Given the description of an element on the screen output the (x, y) to click on. 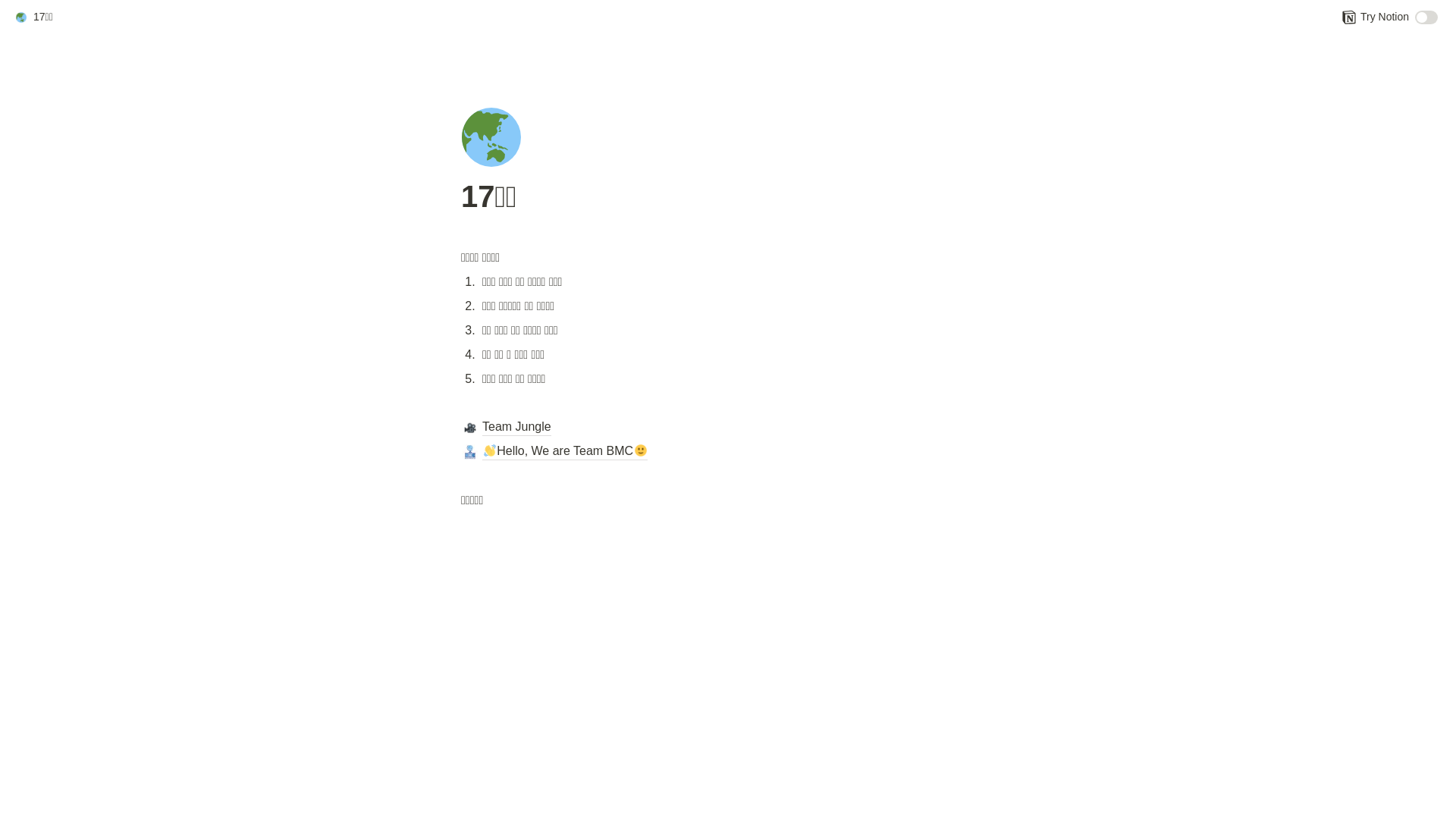
Hello, We are Team BMC Element type: text (727, 451)
Team Jungle Element type: text (727, 427)
Change to Dark Mode Element type: hover (1426, 17)
